Given the description of an element on the screen output the (x, y) to click on. 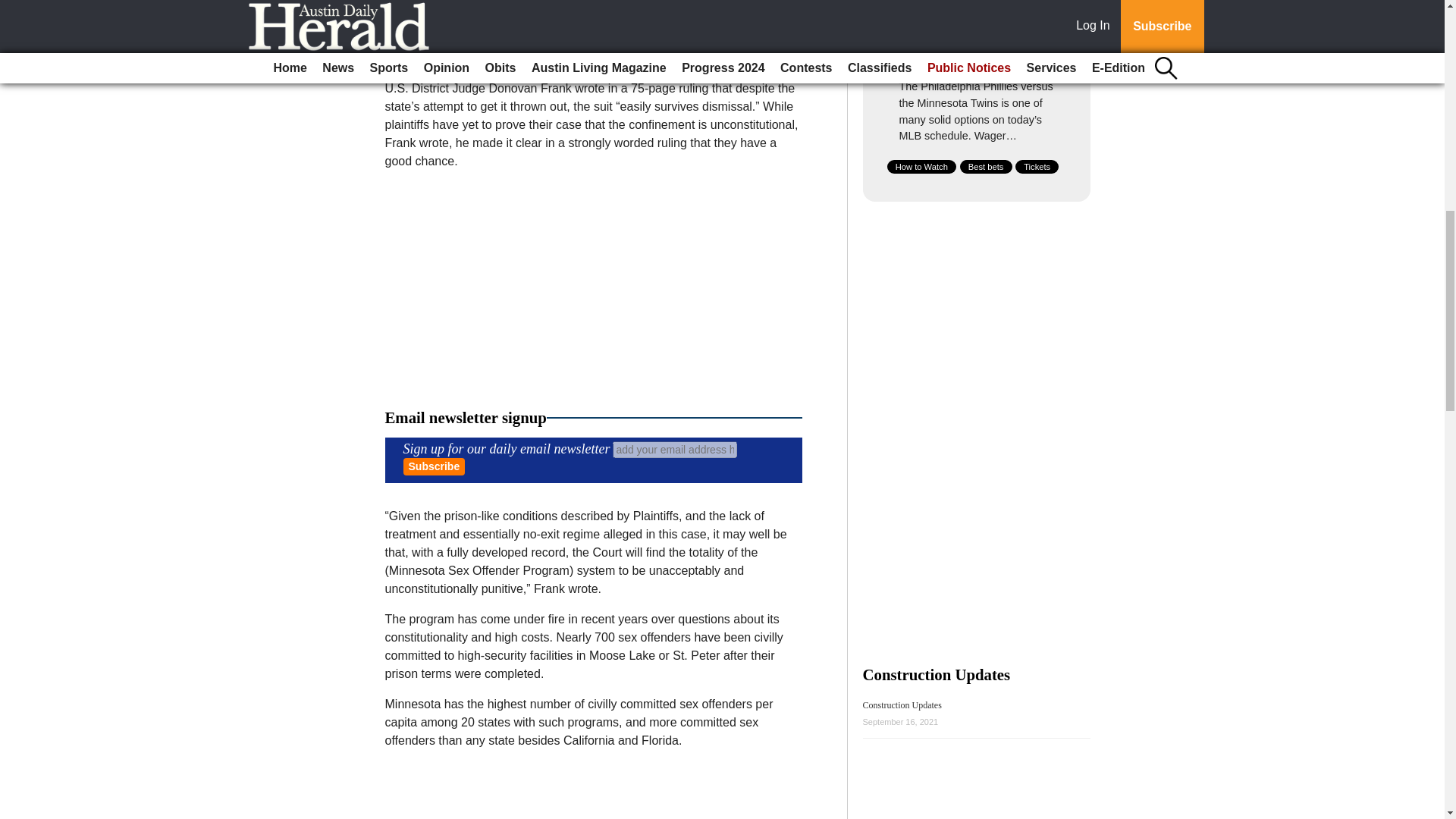
Subscribe (434, 466)
